Given the description of an element on the screen output the (x, y) to click on. 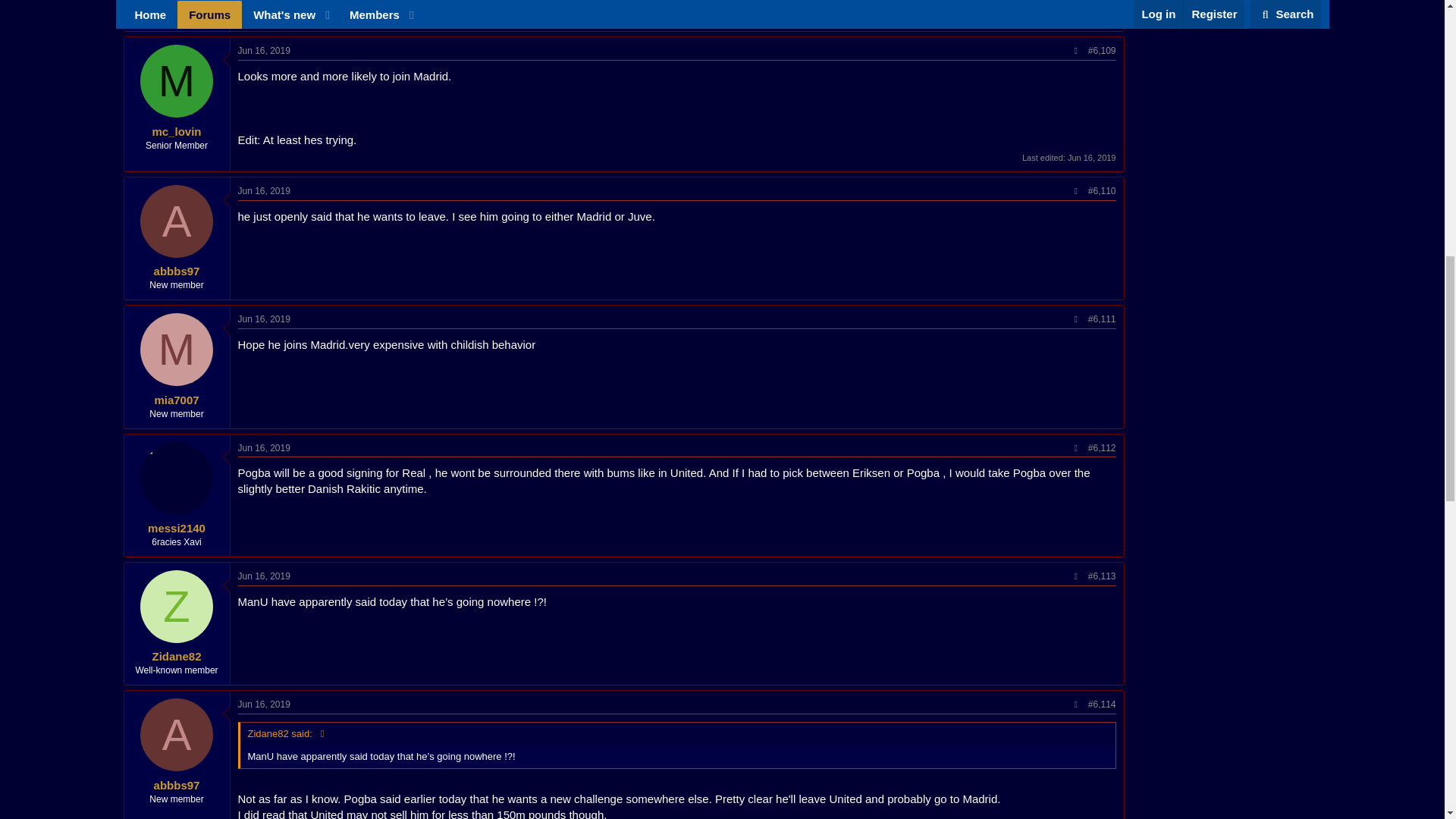
Jun 16, 2019 at 11:42 AM (263, 318)
Jun 16, 2019 at 10:52 AM (263, 50)
Jun 16, 2019 at 10:54 AM (1091, 157)
Jun 16, 2019 at 11:36 AM (263, 190)
Jun 16, 2019 at 7:31 PM (263, 575)
Jun 16, 2019 at 8:00 PM (263, 704)
Jun 16, 2019 at 11:50 AM (263, 448)
